Given the description of an element on the screen output the (x, y) to click on. 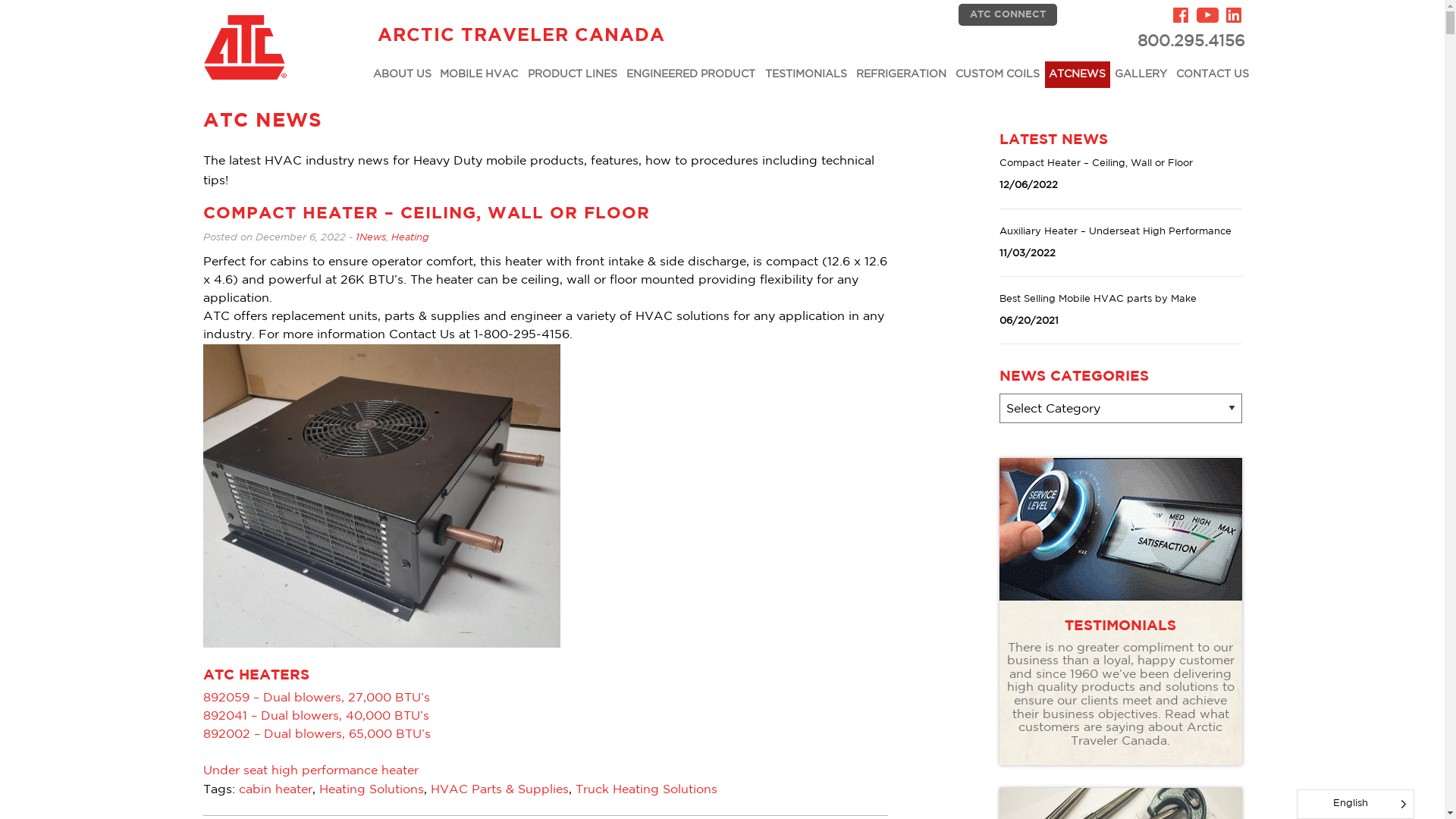
REFRIGERATION Element type: text (900, 74)
Truck Heating Solutions Element type: text (645, 789)
cabin heater Element type: text (274, 789)
Best Selling Mobile HVAC parts by Make
06/20/2021 Element type: text (1120, 310)
ENGINEERED PRODUCT Element type: text (690, 74)
800.295.4156 Element type: text (1101, 41)
GALLERY Element type: text (1140, 74)
1News Element type: text (369, 237)
HVAC Parts & Supplies Element type: text (499, 789)
ABOUT US Element type: text (402, 74)
ATCNEWS Element type: text (1077, 74)
Heating Solutions Element type: text (370, 789)
CUSTOM COILS Element type: text (997, 74)
TESTIMONIALS Element type: text (805, 74)
Under seat high performance heater Element type: text (310, 770)
PRODUCT LINES Element type: text (571, 74)
CONTACT US Element type: text (1212, 74)
MOBILE HVAC Element type: text (478, 74)
ATC CONNECT Element type: text (1007, 14)
Heating Element type: text (410, 237)
